Given the description of an element on the screen output the (x, y) to click on. 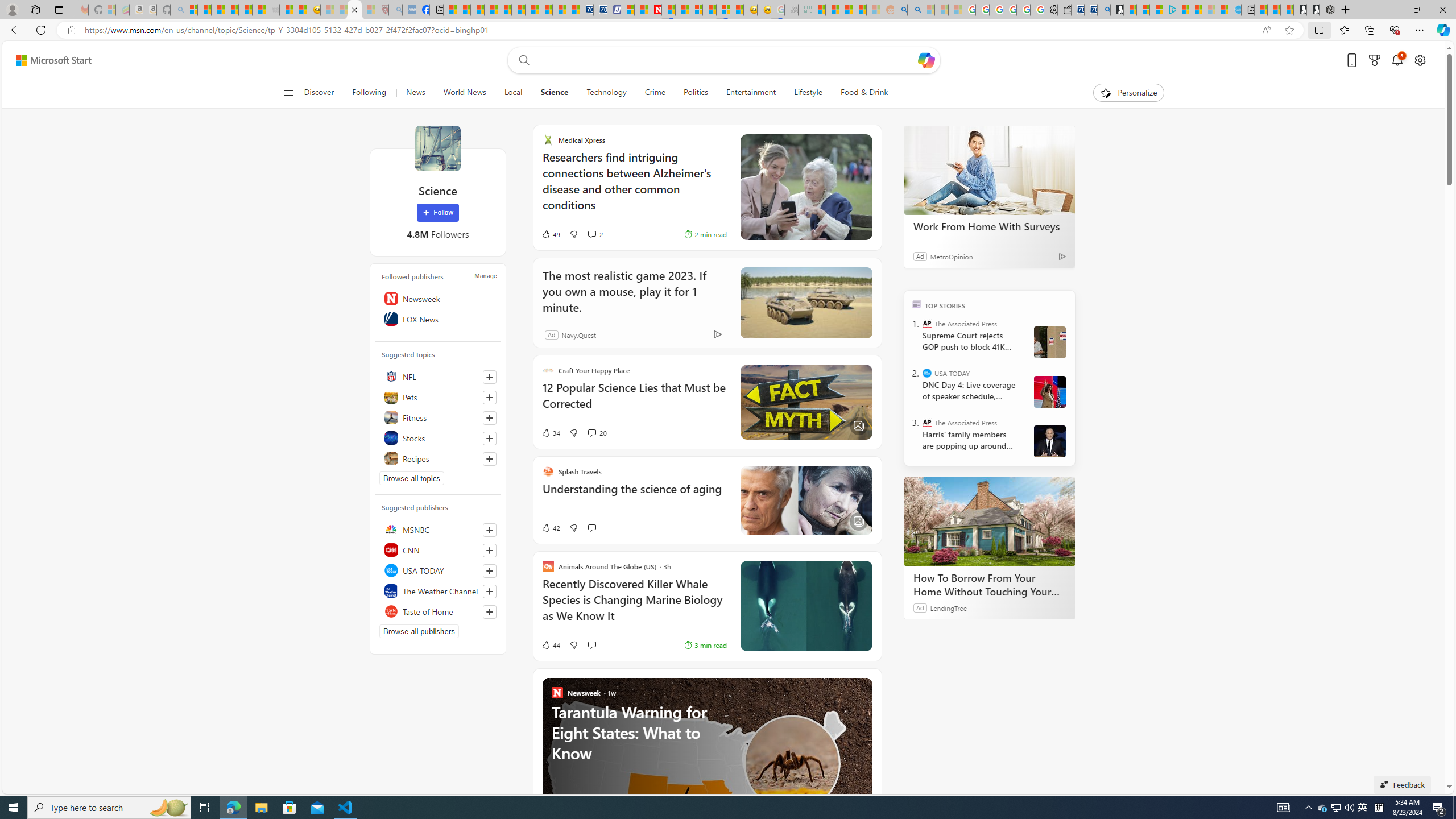
Bing Real Estate - Home sales and rental listings (1103, 9)
